Given the description of an element on the screen output the (x, y) to click on. 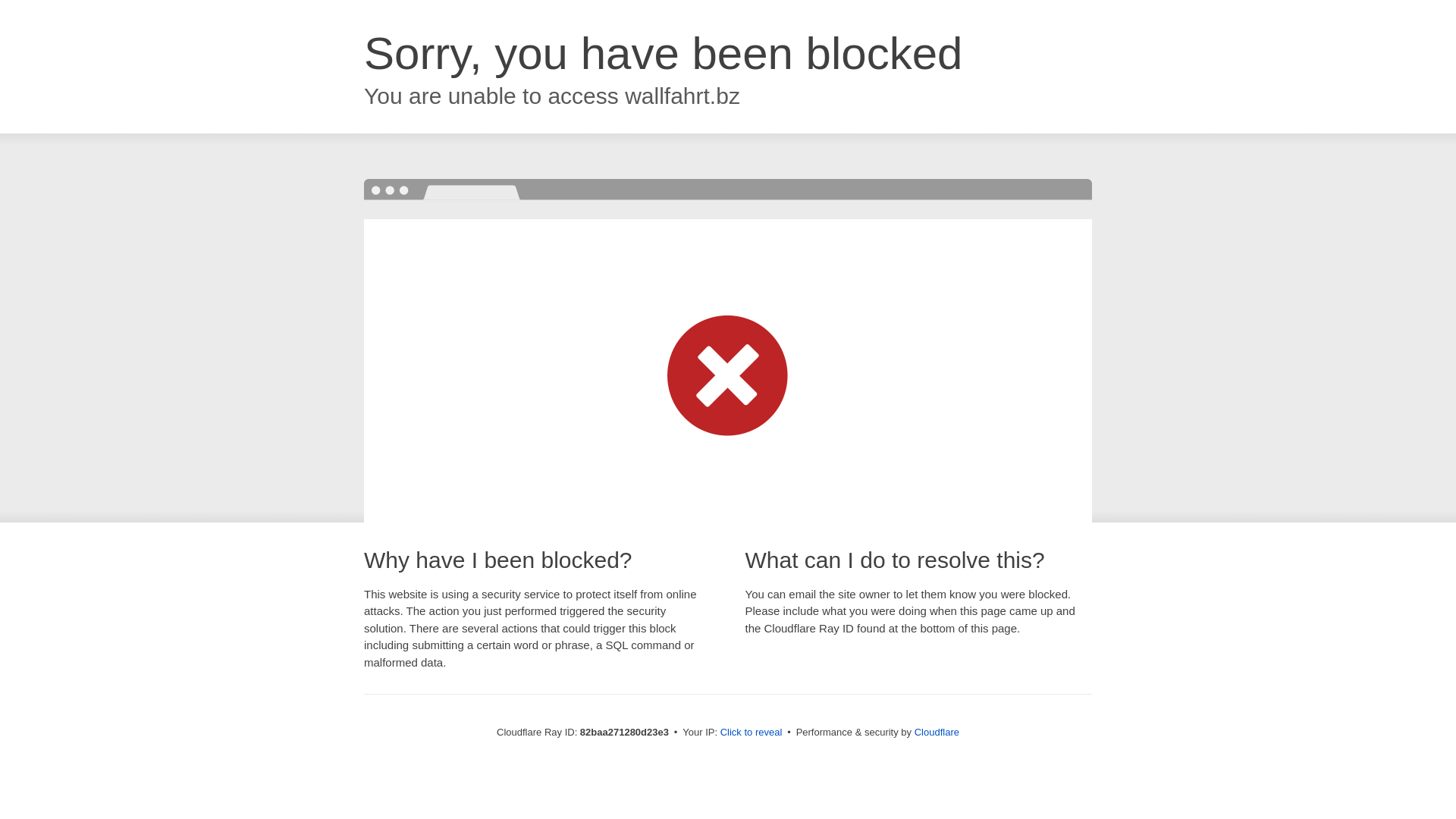
Click to reveal Element type: text (751, 732)
Cloudflare Element type: text (936, 731)
